Given the description of an element on the screen output the (x, y) to click on. 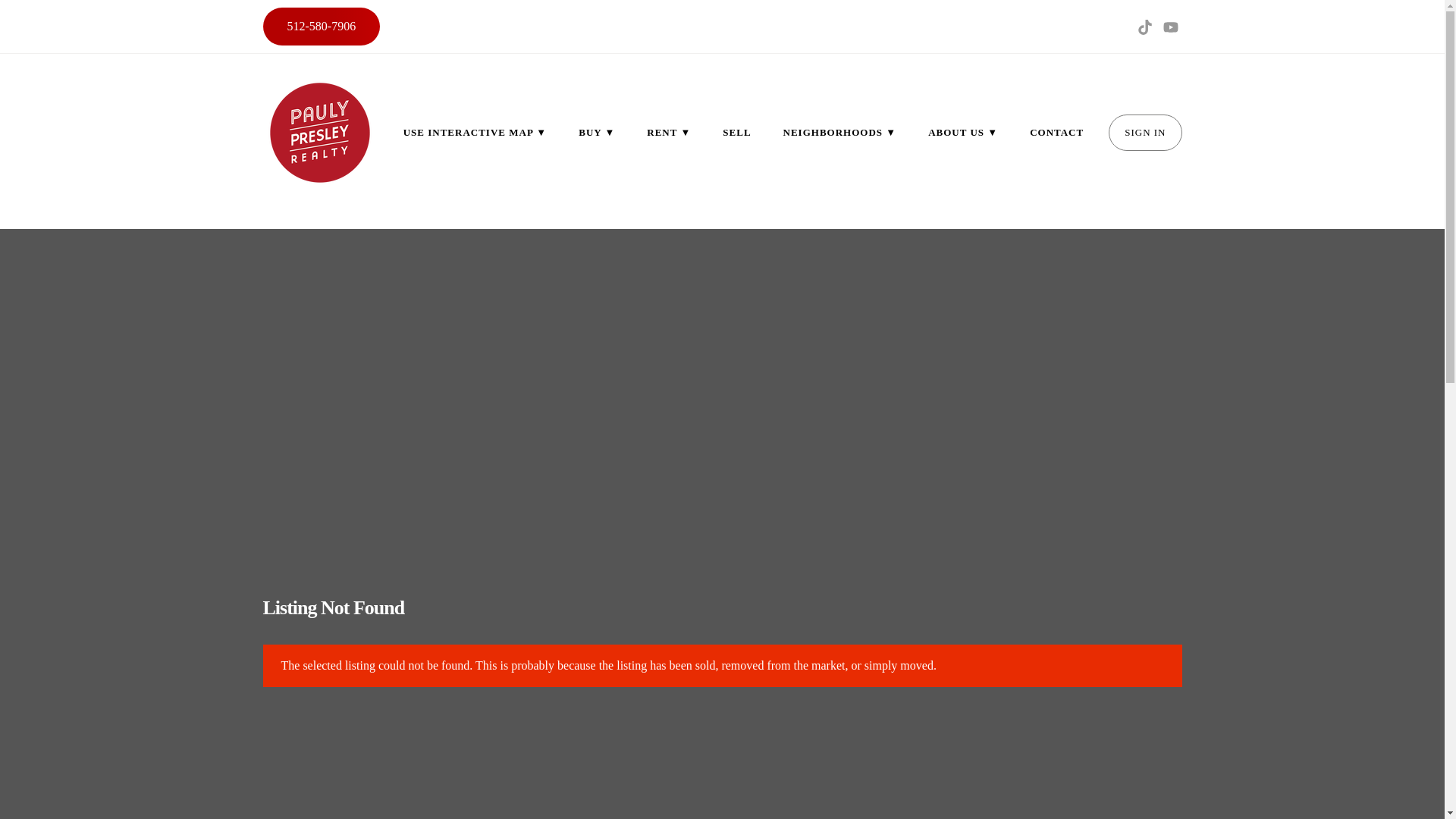
SELL (736, 132)
512-580-7906 (321, 26)
Site Logo (318, 132)
